Given the description of an element on the screen output the (x, y) to click on. 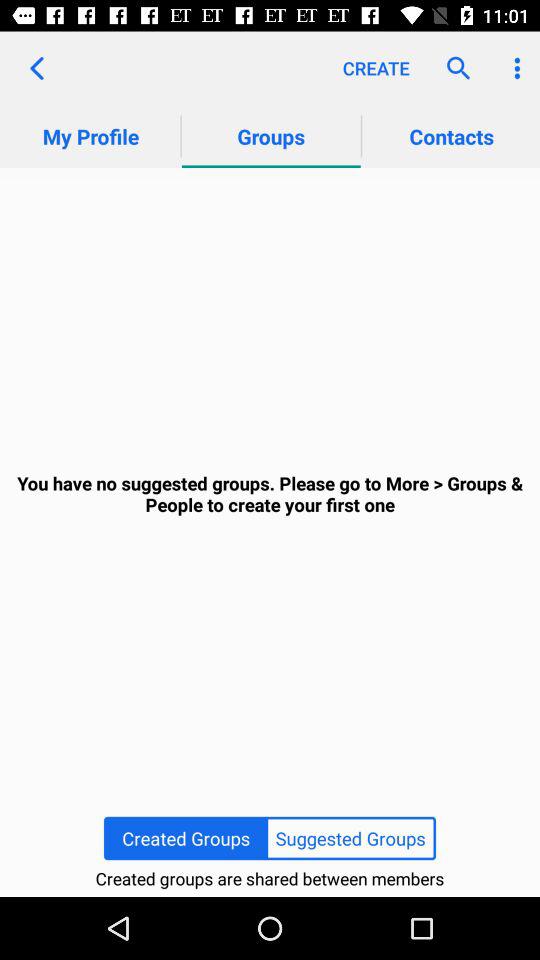
tap the item next to the create (453, 67)
